Given the description of an element on the screen output the (x, y) to click on. 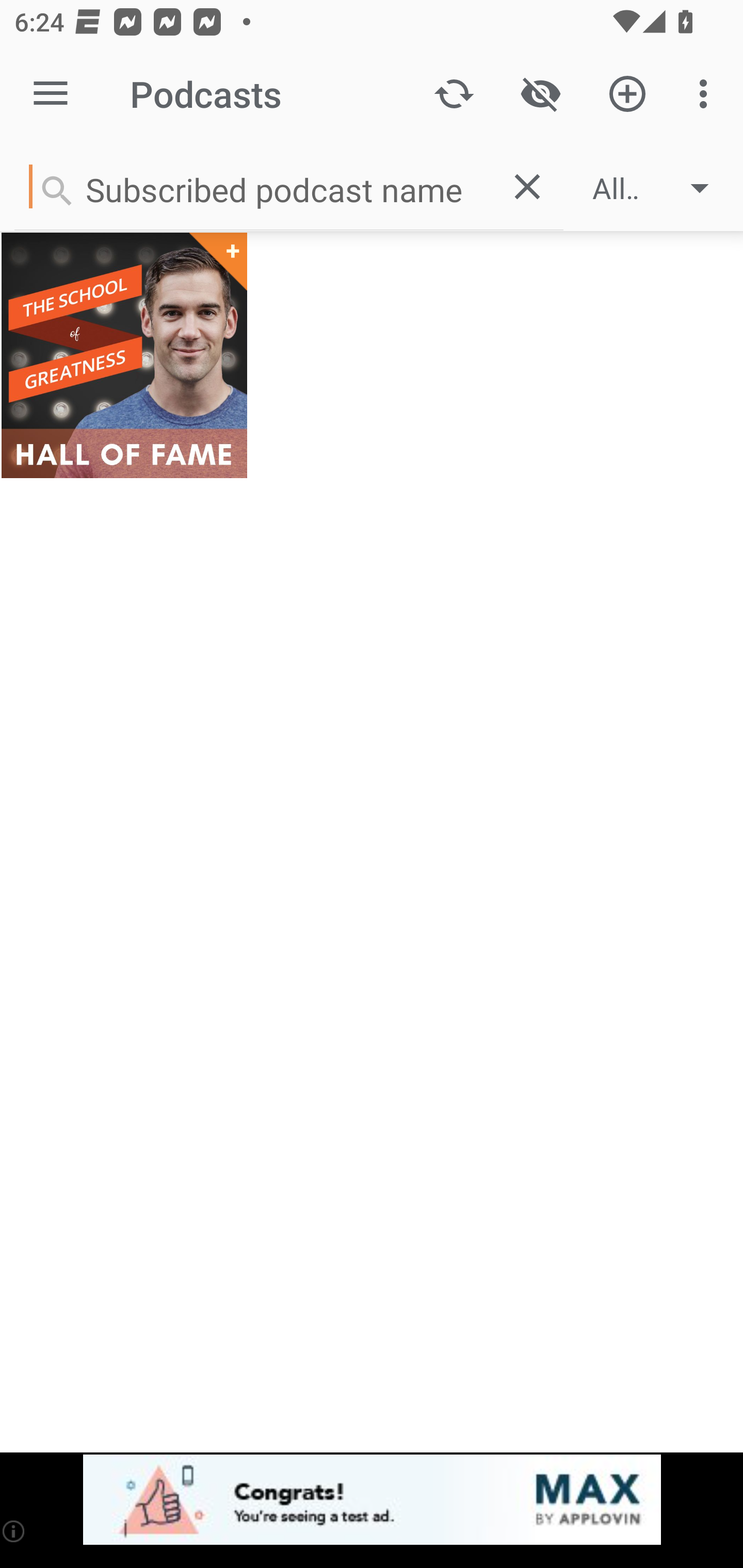
Open navigation sidebar (50, 93)
Update (453, 93)
Show / Hide played content (540, 93)
Add new Podcast (626, 93)
More options (706, 93)
Clear query (527, 186)
   Subscribed podcast name (252, 186)
All categories (1) (660, 188)
The School of Greatness Hall of Fame + (124, 355)
app-monetization (371, 1500)
(i) (14, 1531)
